Given the description of an element on the screen output the (x, y) to click on. 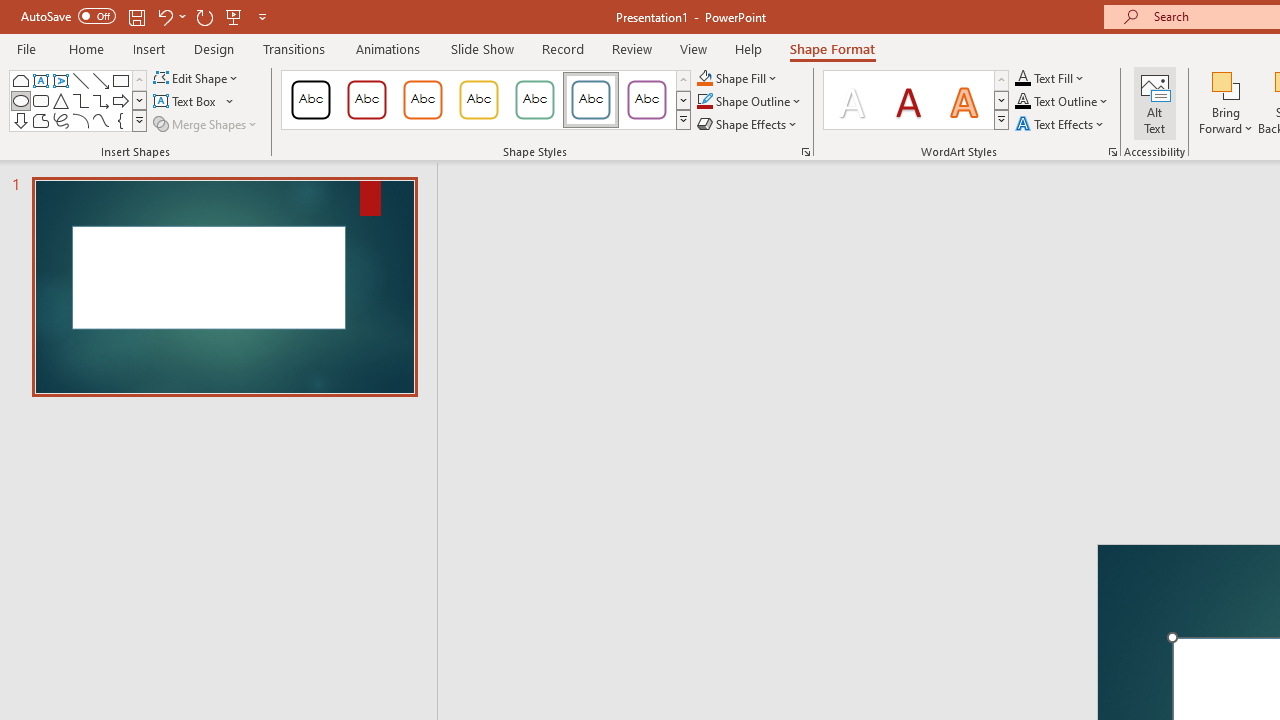
Colored Outline - Black, Dark 1 (310, 100)
Text Fill RGB(0, 0, 0) (1023, 78)
Colored Outline - Green, Accent 4 (534, 100)
